Given the description of an element on the screen output the (x, y) to click on. 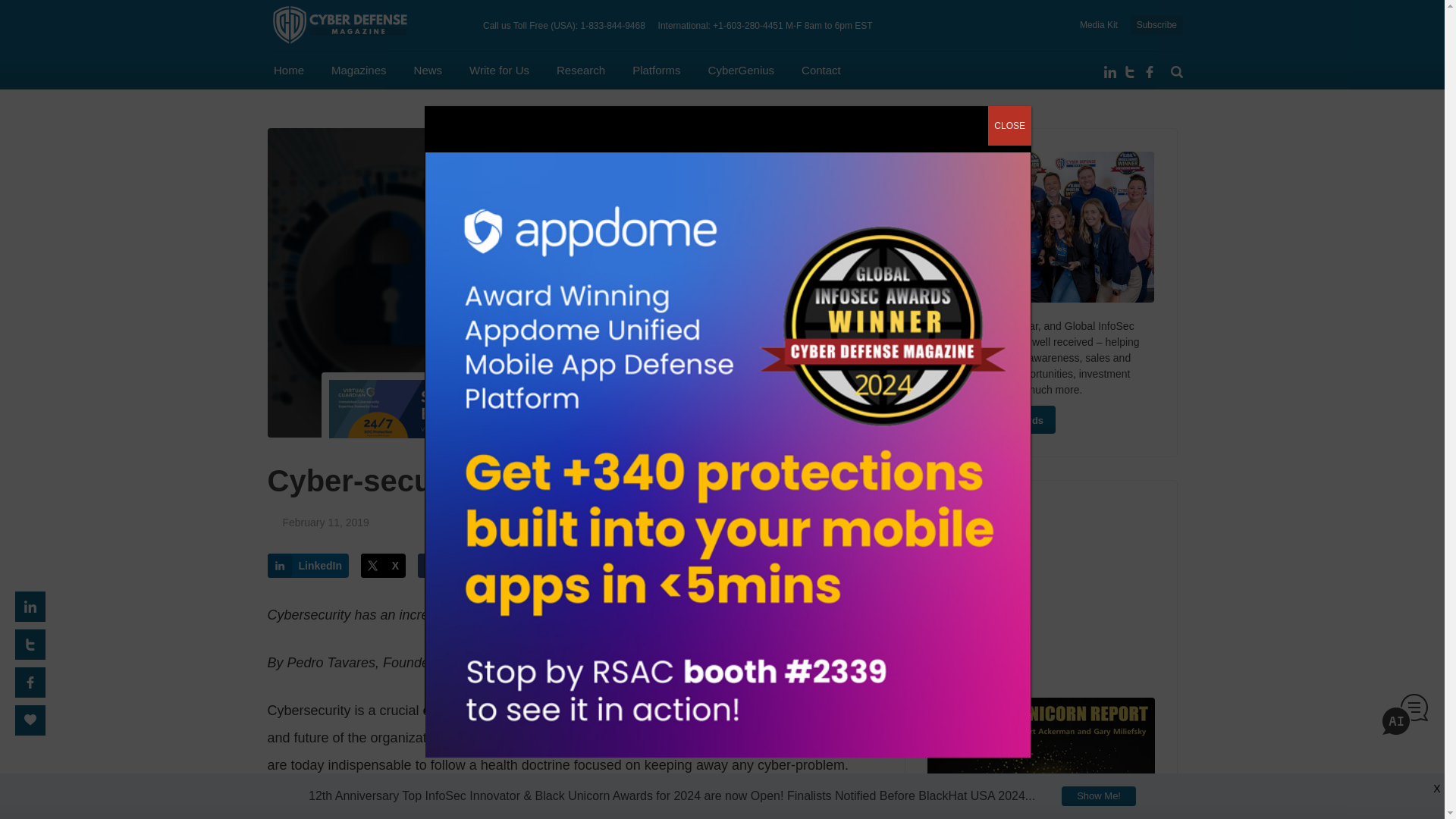
Platforms (655, 70)
CyberGenius (740, 70)
Home (288, 70)
Subscribe (1156, 25)
News (427, 70)
Share on X (383, 565)
Media Kit (1099, 24)
Print this webpage (547, 565)
Share on LinkedIn (307, 565)
Contact (821, 70)
Research (580, 70)
Magazines (359, 70)
Share on Facebook (461, 565)
Write for Us (498, 70)
